Given the description of an element on the screen output the (x, y) to click on. 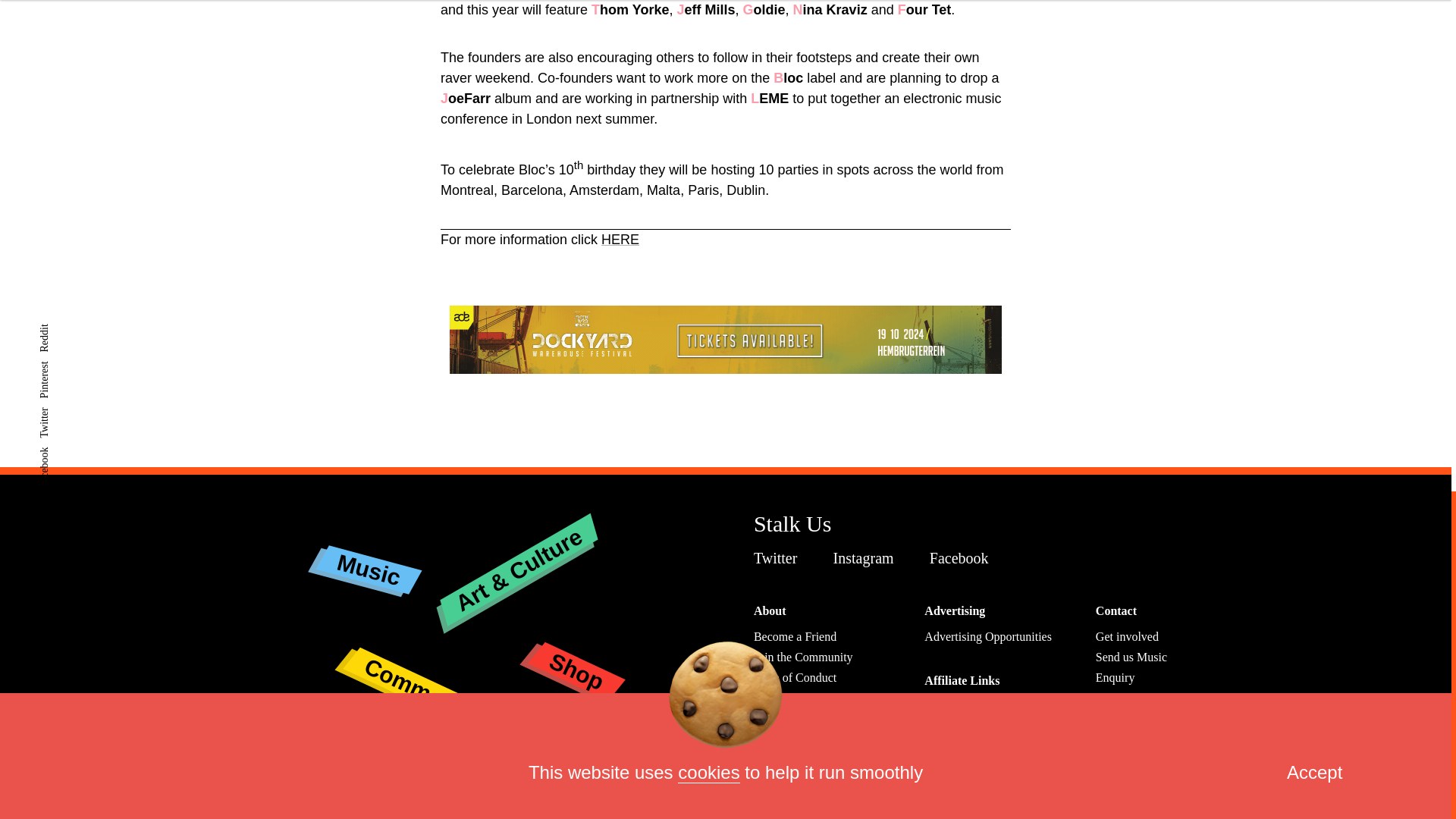
About (770, 610)
Send us Music (1131, 656)
Commentary (431, 659)
Enquiry (1115, 676)
Contact (1116, 610)
Get involved (1127, 635)
Instagram (866, 558)
HERE (620, 239)
Facebook (962, 558)
Shop (575, 653)
Music (366, 557)
Twitter (779, 558)
